Given the description of an element on the screen output the (x, y) to click on. 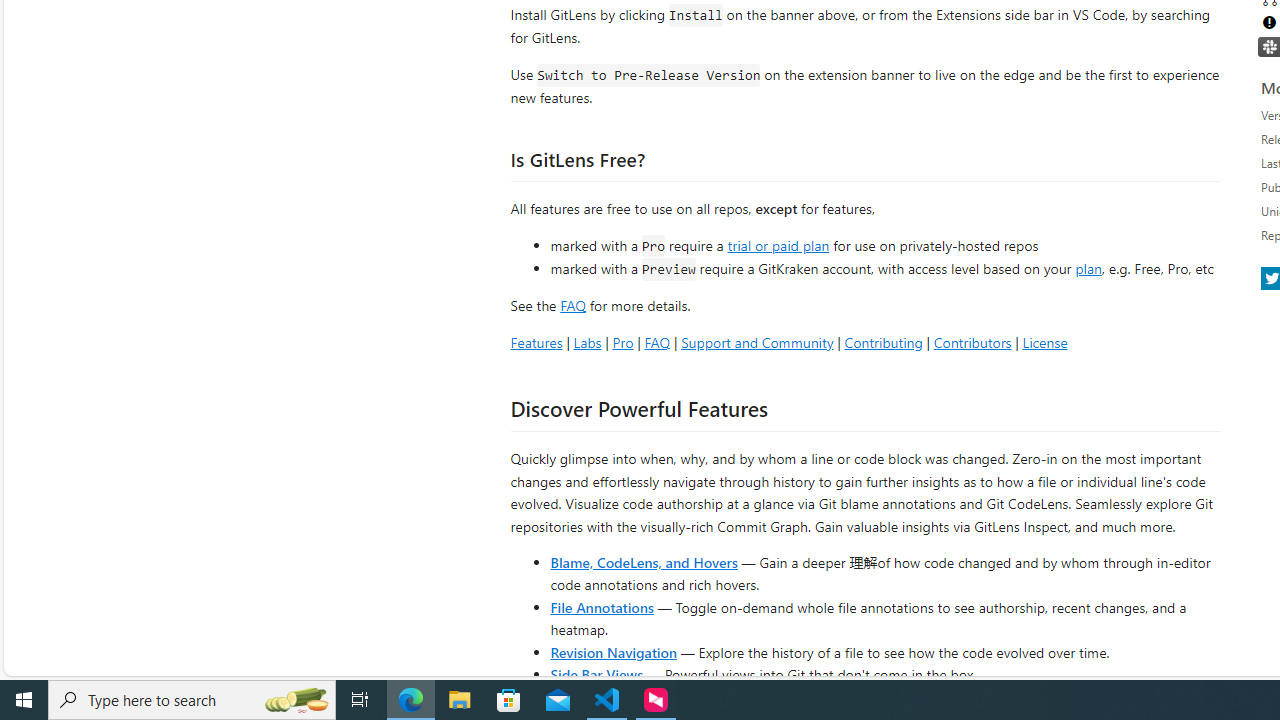
Blame, CodeLens, and Hovers (644, 561)
Contributors (972, 341)
trial or paid plan (778, 244)
Side Bar Views (596, 673)
